Given the description of an element on the screen output the (x, y) to click on. 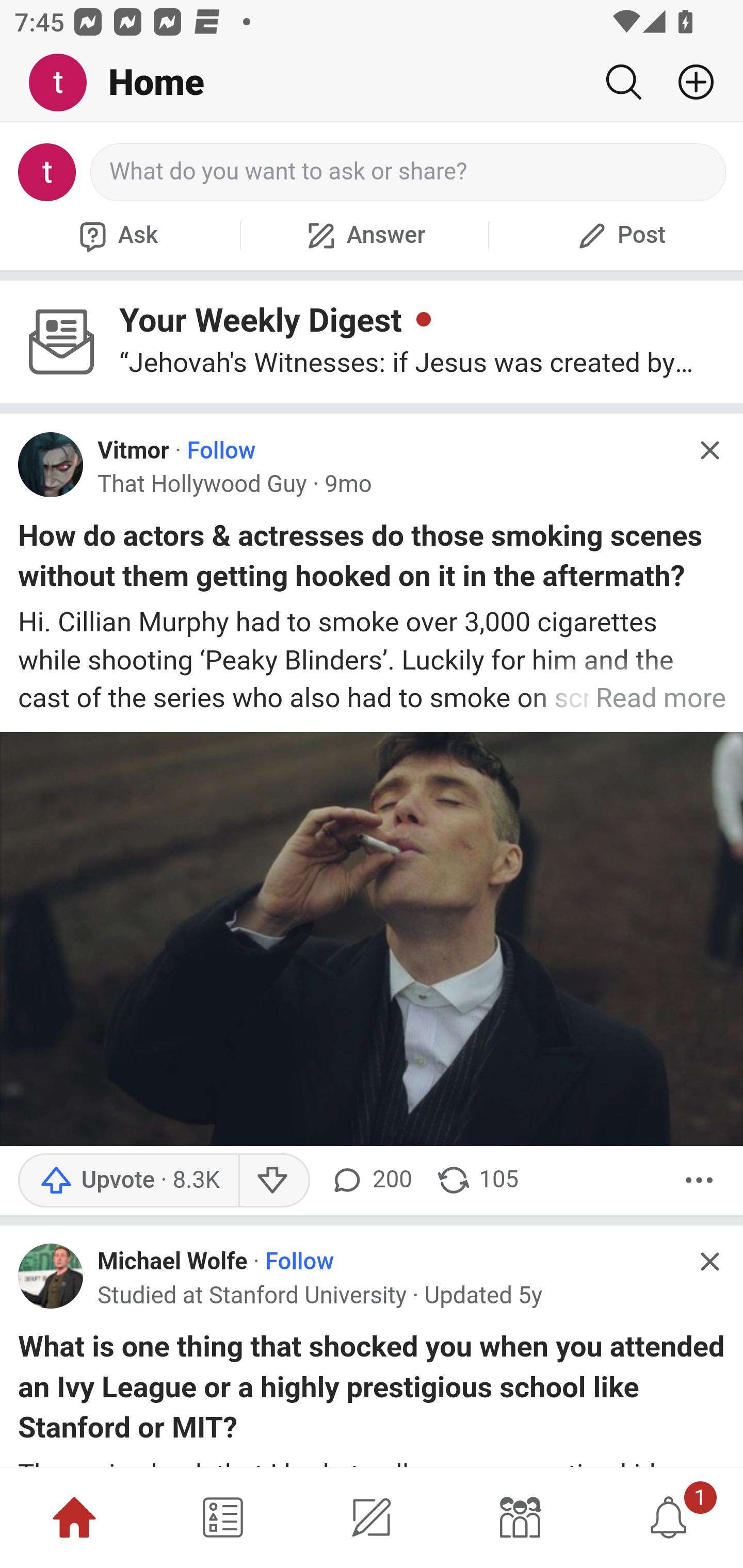
Me Home Search Add (371, 82)
Me (64, 83)
Search (623, 82)
Add (688, 82)
1 (668, 1517)
